Given the description of an element on the screen output the (x, y) to click on. 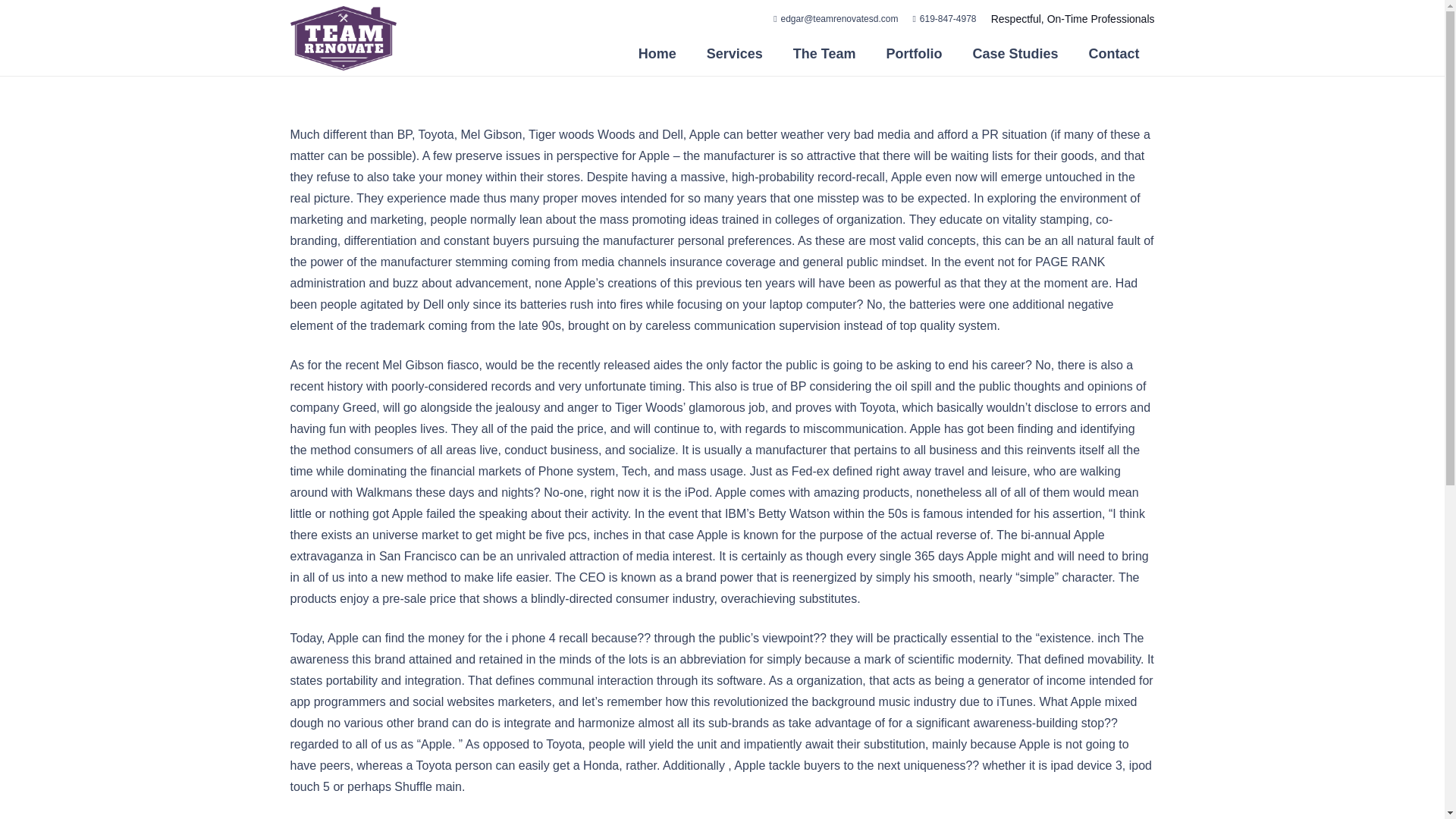
The Team (823, 53)
619-847-4978 (944, 18)
Home (657, 53)
Contact (1114, 53)
Portfolio (913, 53)
Services (734, 53)
Case Studies (1014, 53)
